Given the description of an element on the screen output the (x, y) to click on. 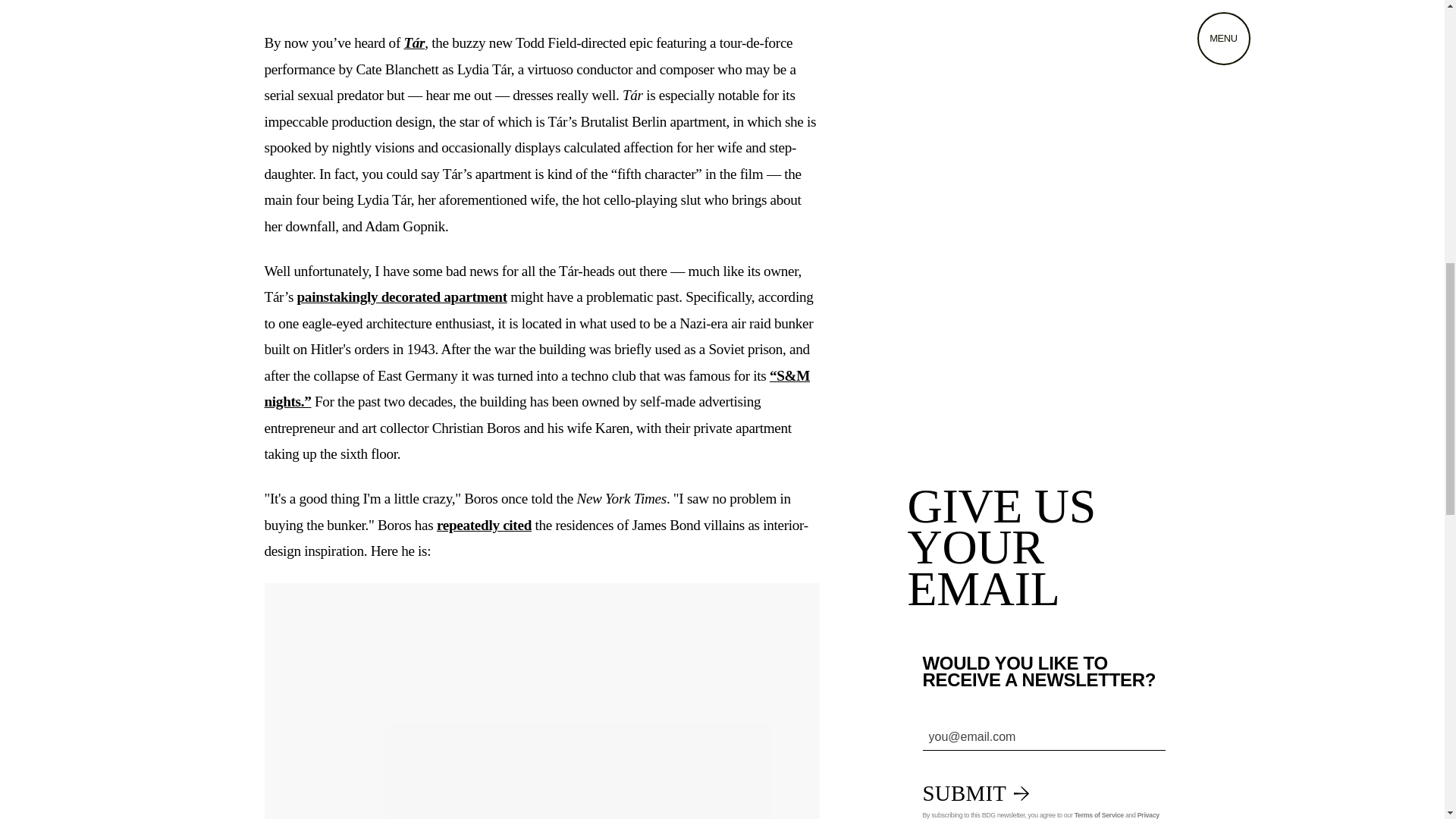
painstakingly decorated apartment (401, 296)
SUBMIT (975, 793)
repeatedly cited (483, 524)
Terms of Service (1099, 815)
Privacy Policy (1039, 815)
